Given the description of an element on the screen output the (x, y) to click on. 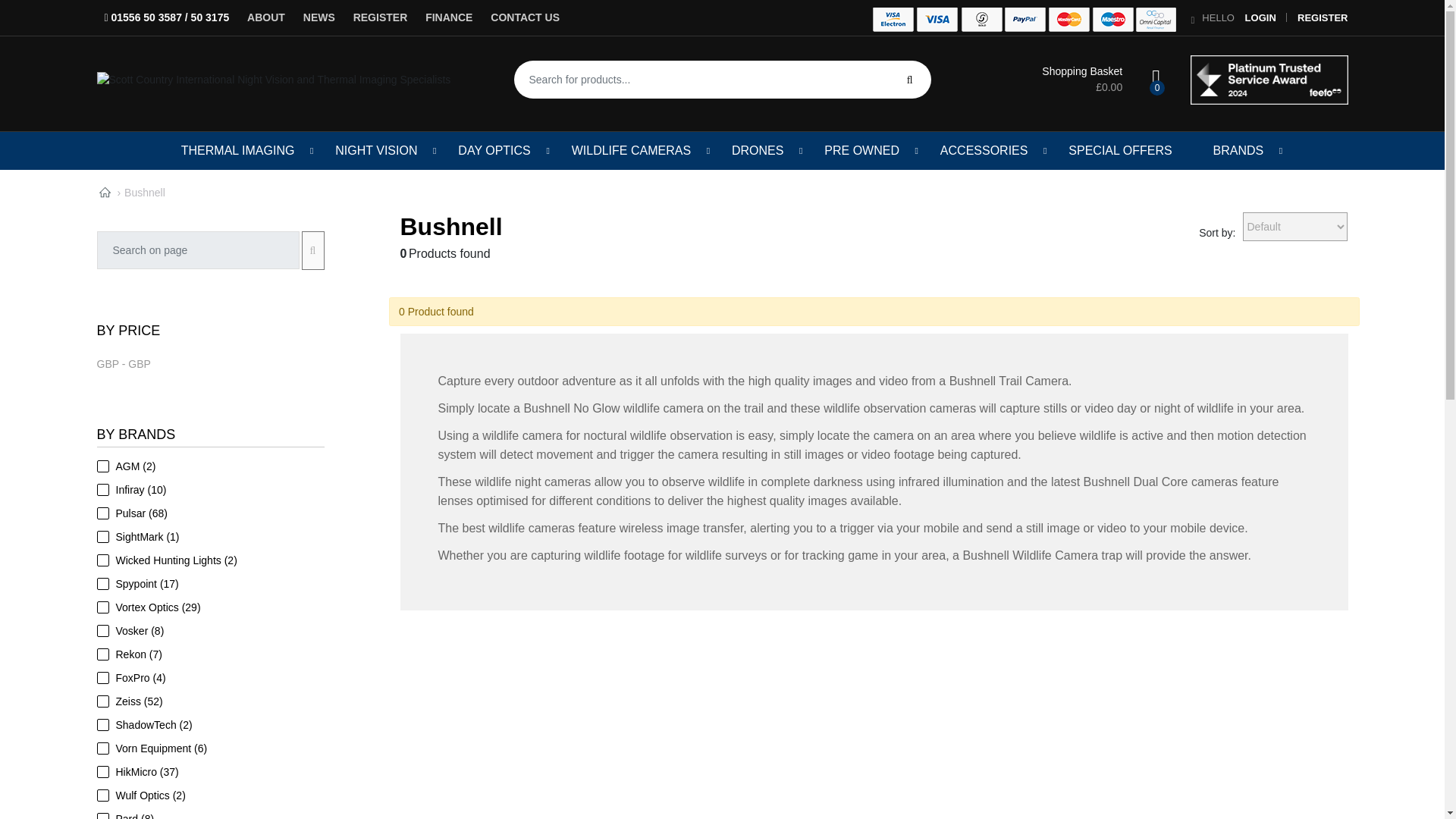
REGISTER (1322, 17)
ABOUT (266, 17)
CONTACT US (525, 17)
Home page (104, 192)
FINANCE (448, 17)
Start search (909, 79)
LOGIN (1260, 17)
NEWS (318, 17)
REGISTER (380, 17)
